Given the description of an element on the screen output the (x, y) to click on. 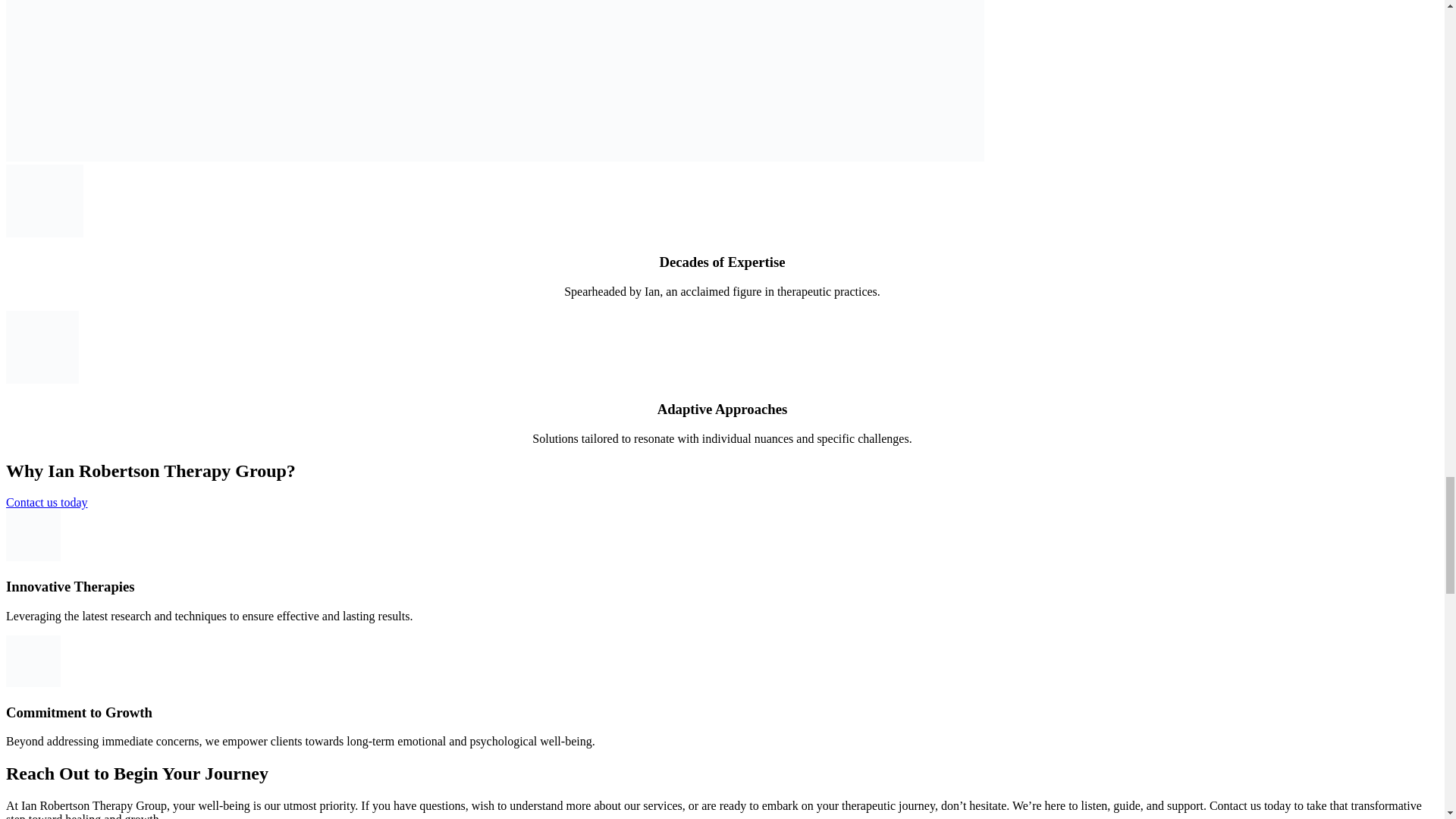
Decades of Expertise Icon (43, 200)
Adaptive Approaches Icon (41, 347)
Innovative and Commitment Icon (33, 535)
